Given the description of an element on the screen output the (x, y) to click on. 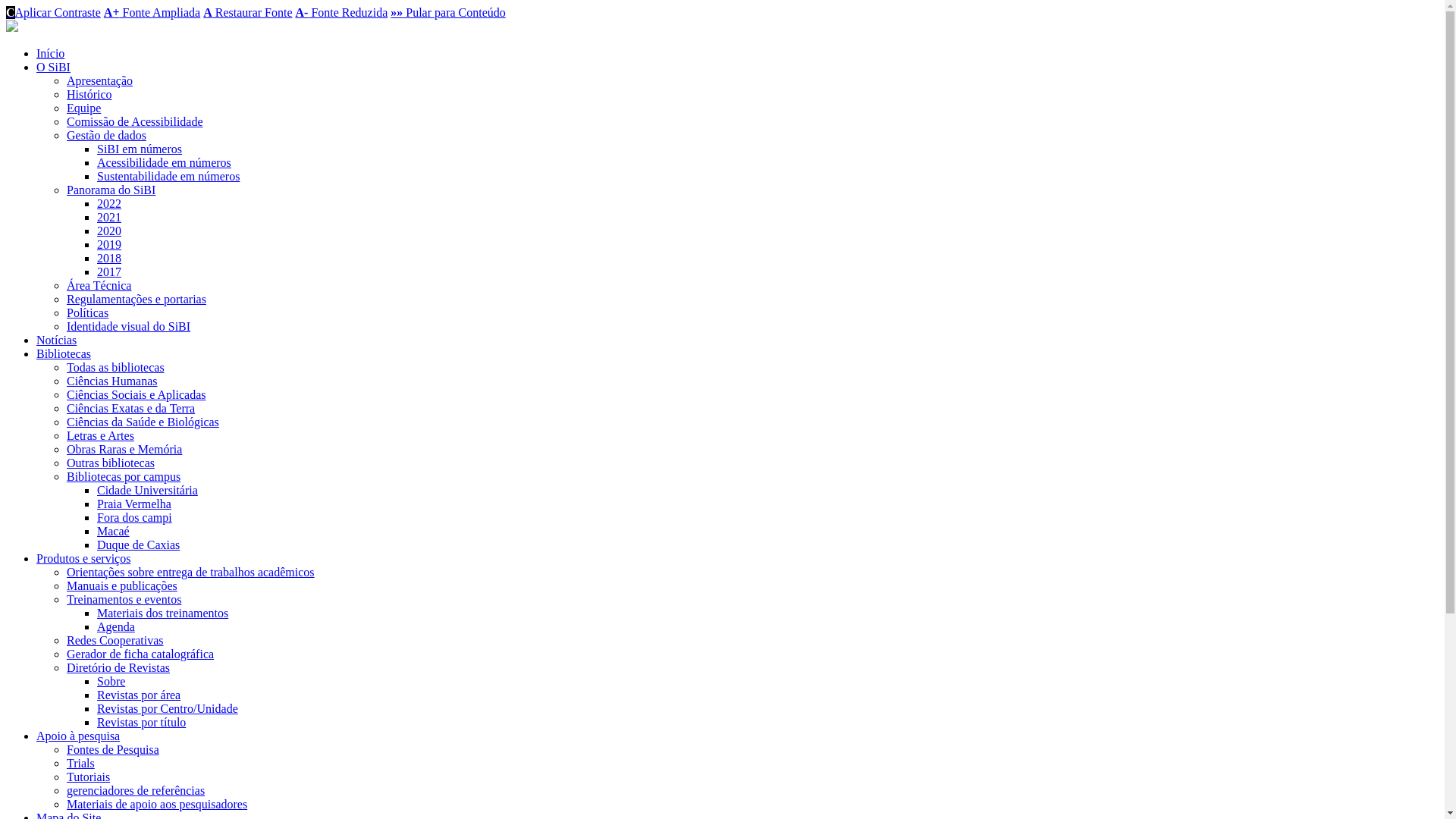
Outras bibliotecas Element type: text (110, 462)
Duque de Caxias Element type: text (138, 544)
2020 Element type: text (109, 230)
Bibliotecas por campus Element type: text (123, 476)
Materiais de apoio aos pesquisadores Element type: text (156, 803)
2017 Element type: text (109, 271)
A- Fonte Reduzida Element type: text (341, 12)
O SiBI Element type: text (53, 66)
2021 Element type: text (109, 216)
2018 Element type: text (109, 257)
Fontes de Pesquisa Element type: text (112, 749)
A+ Fonte Ampliada Element type: text (151, 12)
CAplicar Contraste Element type: text (53, 12)
Panorama do SiBI Element type: text (110, 189)
Identidade visual do SiBI Element type: text (128, 326)
Revistas por Centro/Unidade Element type: text (167, 708)
A Restaurar Fonte Element type: text (247, 12)
Materiais dos treinamentos Element type: text (162, 612)
Treinamentos e eventos Element type: text (123, 599)
Bibliotecas Element type: text (63, 353)
Sobre Element type: text (111, 680)
Equipe Element type: text (83, 107)
Letras e Artes Element type: text (100, 435)
Praia Vermelha Element type: text (134, 503)
2019 Element type: text (109, 244)
Redes Cooperativas Element type: text (114, 639)
Agenda Element type: text (115, 626)
Fora dos campi Element type: text (134, 517)
2022 Element type: text (109, 203)
Tutoriais Element type: text (87, 776)
Todas as bibliotecas Element type: text (115, 366)
Trials Element type: text (80, 762)
